Given the description of an element on the screen output the (x, y) to click on. 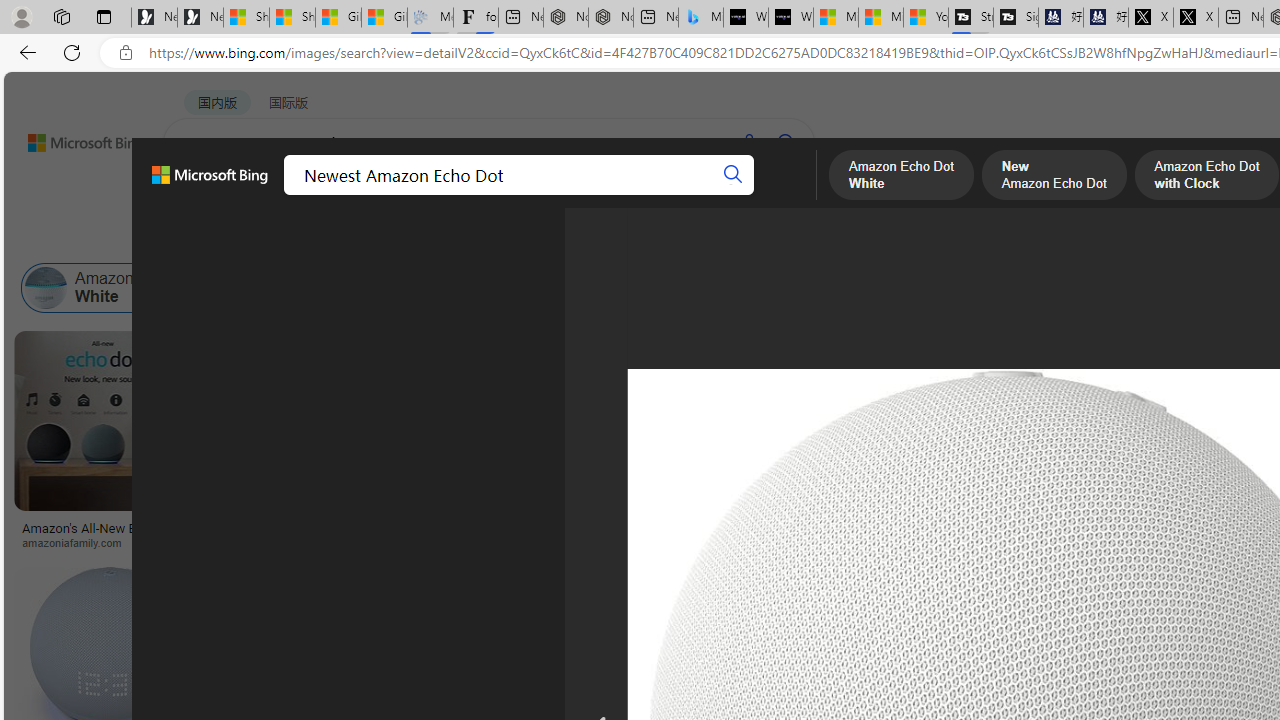
VIDEOS (458, 195)
Amazon Echo Dot with Clock (469, 287)
License (664, 237)
ACADEMIC (548, 195)
Type (372, 237)
